Given the description of an element on the screen output the (x, y) to click on. 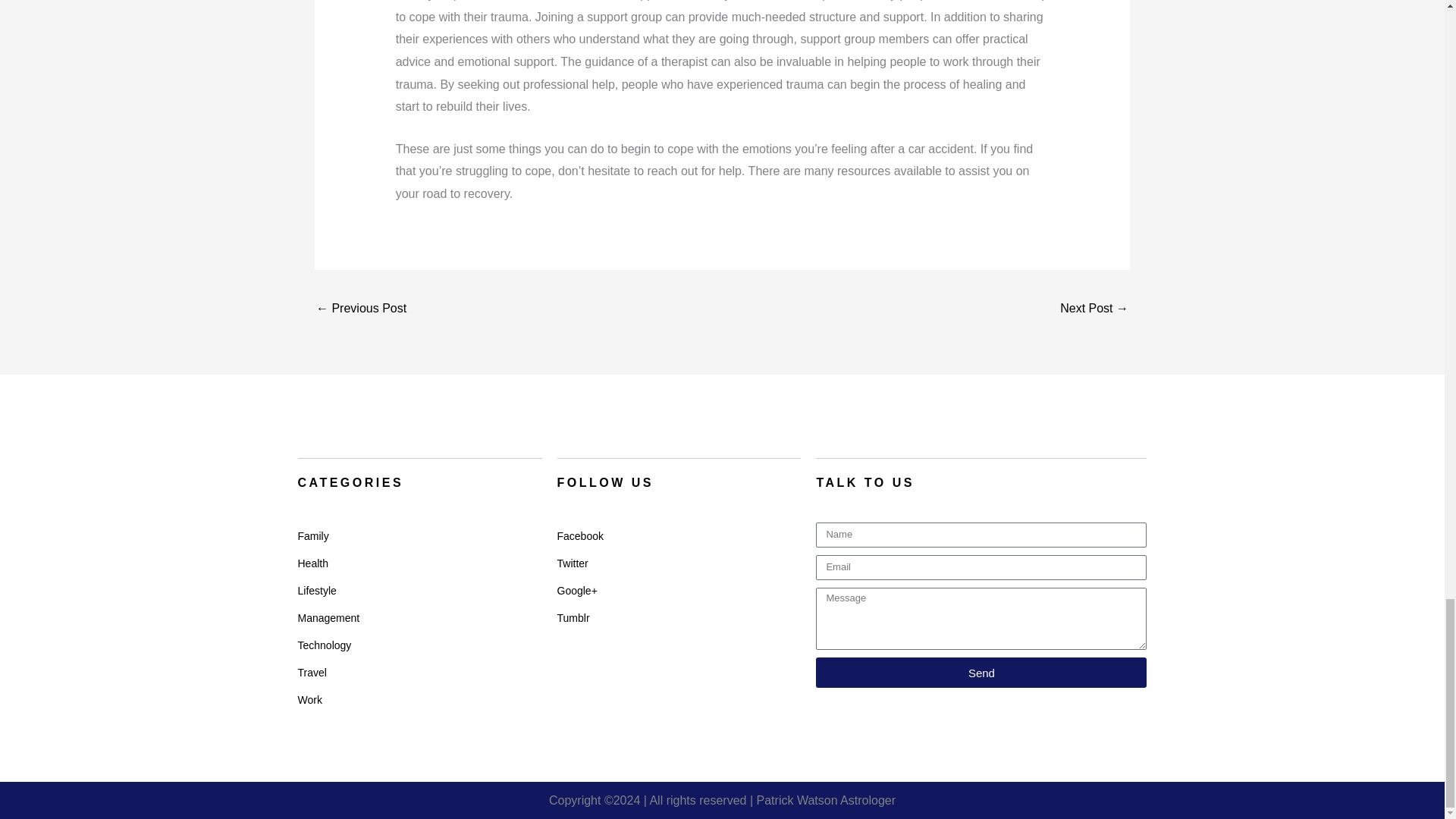
Management (419, 617)
The Underlying Problems of Uneven Teeth (360, 309)
Facebook (678, 535)
Family (419, 535)
Lifestyle Adjustments for the New Retirees (1093, 309)
Lifestyle (419, 590)
Travel (419, 672)
Technology (419, 645)
Health (419, 563)
Work (419, 699)
